Given the description of an element on the screen output the (x, y) to click on. 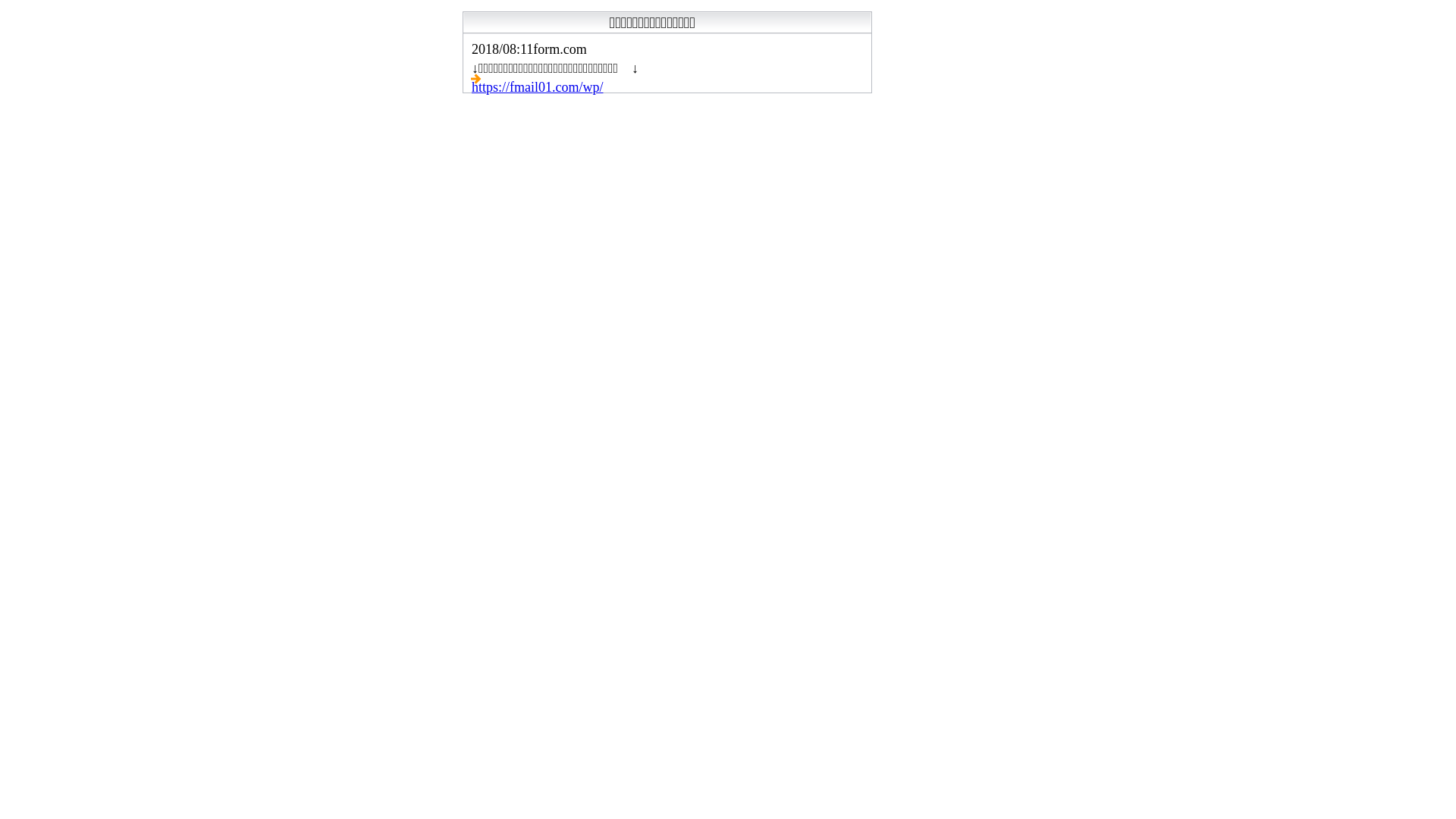
https://fmail01.com/wp/ Element type: text (537, 86)
